Given the description of an element on the screen output the (x, y) to click on. 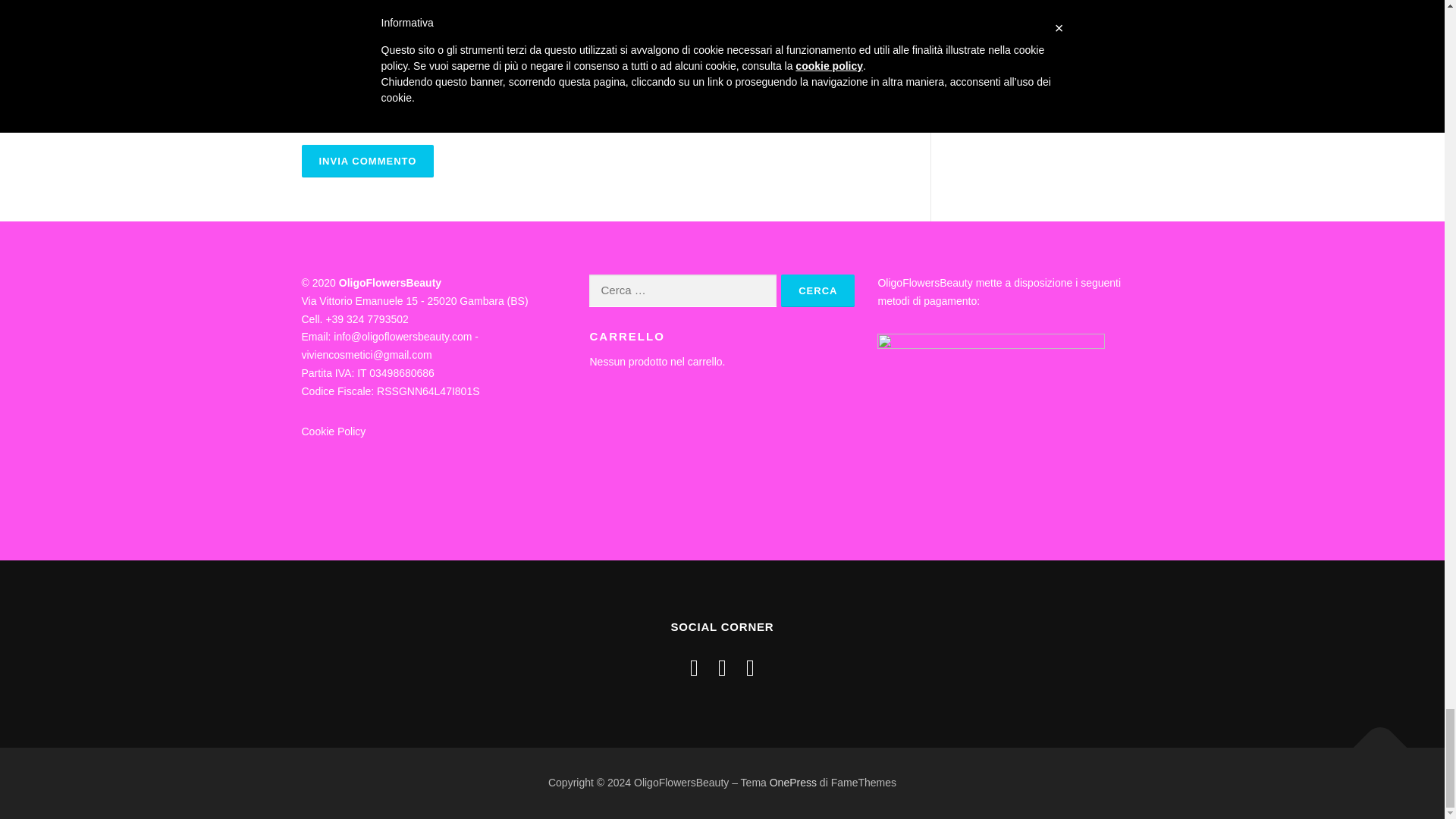
OligoFlowersBeauty (390, 282)
Cerca (817, 290)
Invia commento (367, 160)
Cerca (817, 290)
Invia commento (367, 160)
Torna in alto (1372, 740)
Privacy Policy (344, 409)
